Given the description of an element on the screen output the (x, y) to click on. 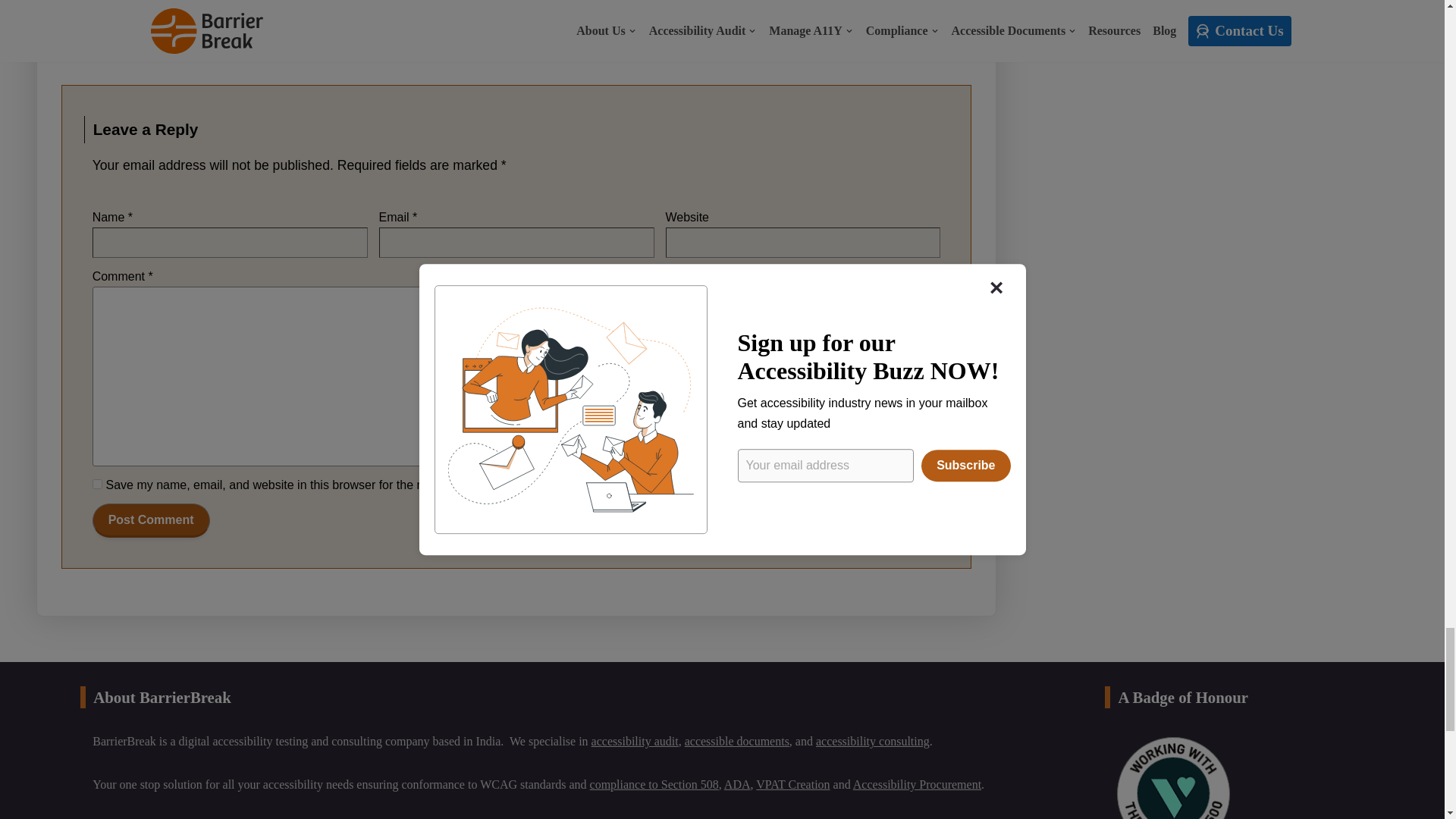
yes (97, 483)
Post Comment (151, 520)
iOS accessibility features (183, 18)
speech recognition (339, 18)
